Given the description of an element on the screen output the (x, y) to click on. 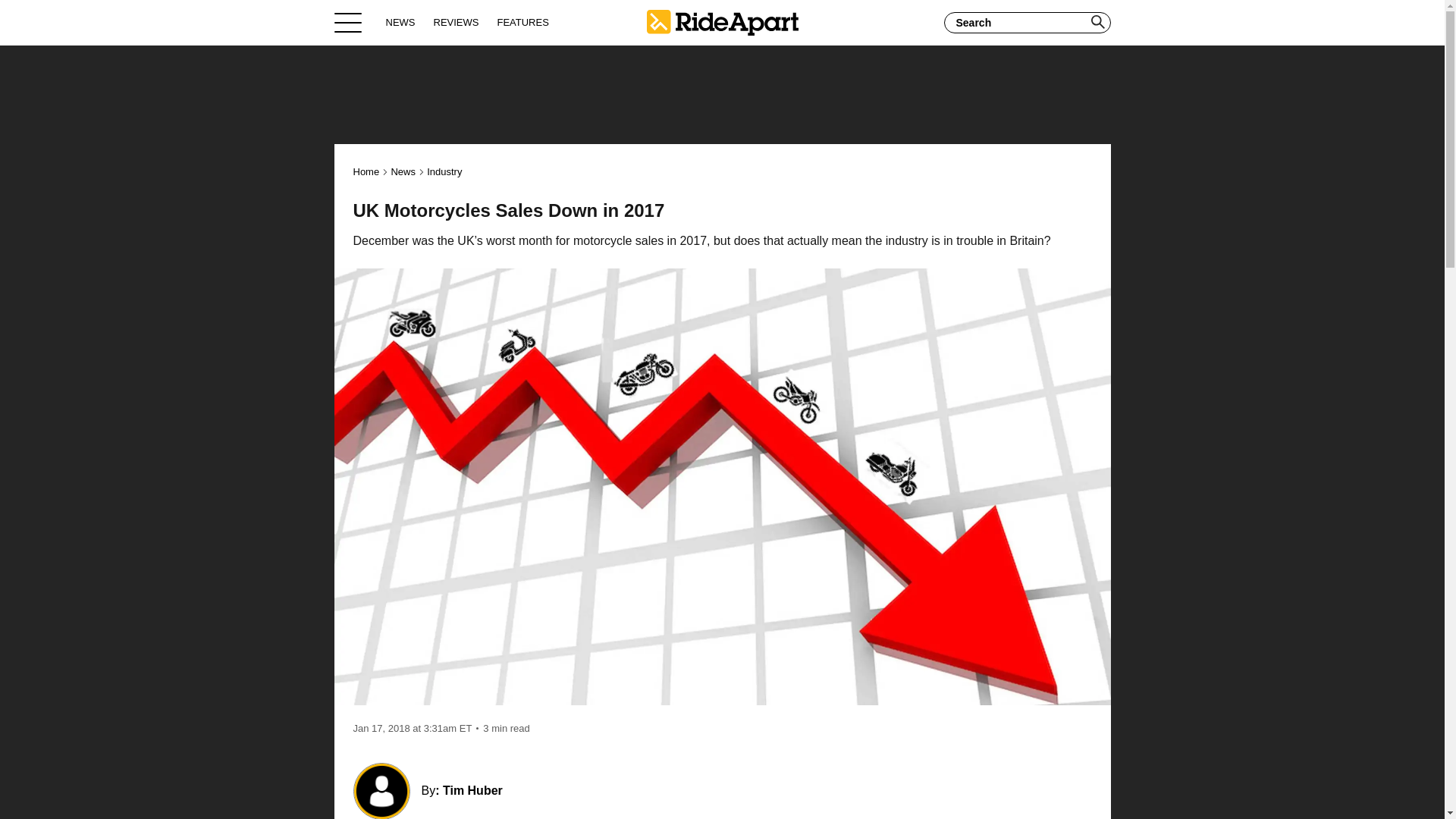
NEWS (399, 22)
Tim Huber (472, 789)
News (402, 171)
Industry (443, 171)
Home (721, 22)
REVIEWS (456, 22)
Home (366, 171)
FEATURES (522, 22)
